Given the description of an element on the screen output the (x, y) to click on. 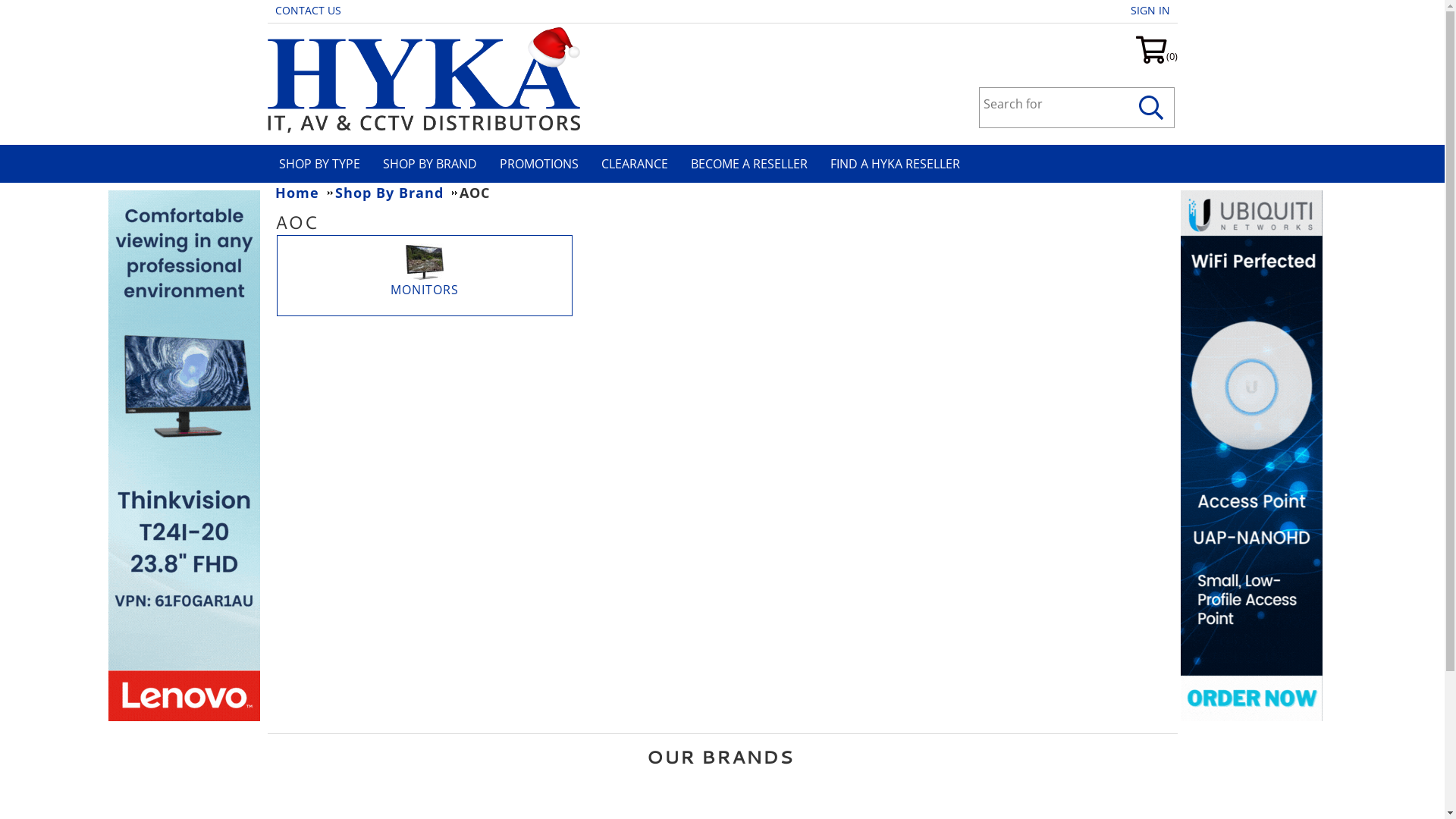
SHOP BY BRAND Element type: text (434, 163)
CLEARANCE Element type: text (639, 163)
leftBannerAd Element type: hover (183, 455)
SIGN IN Element type: text (1152, 10)
FIND A HYKA RESELLER Element type: text (899, 163)
Shop By Brand Element type: text (396, 192)
BECOME A RESELLER Element type: text (754, 163)
Home Element type: text (303, 192)
MONITORS Element type: text (423, 289)
SHOP BY TYPE Element type: text (325, 163)
CONTACT US Element type: text (311, 10)
rightBannerAd Element type: hover (1250, 455)
Start search Element type: hover (1151, 108)
Monitors Element type: hover (423, 262)
PROMOTIONS Element type: text (543, 163)
HYKA Element type: hover (422, 77)
